Given the description of an element on the screen output the (x, y) to click on. 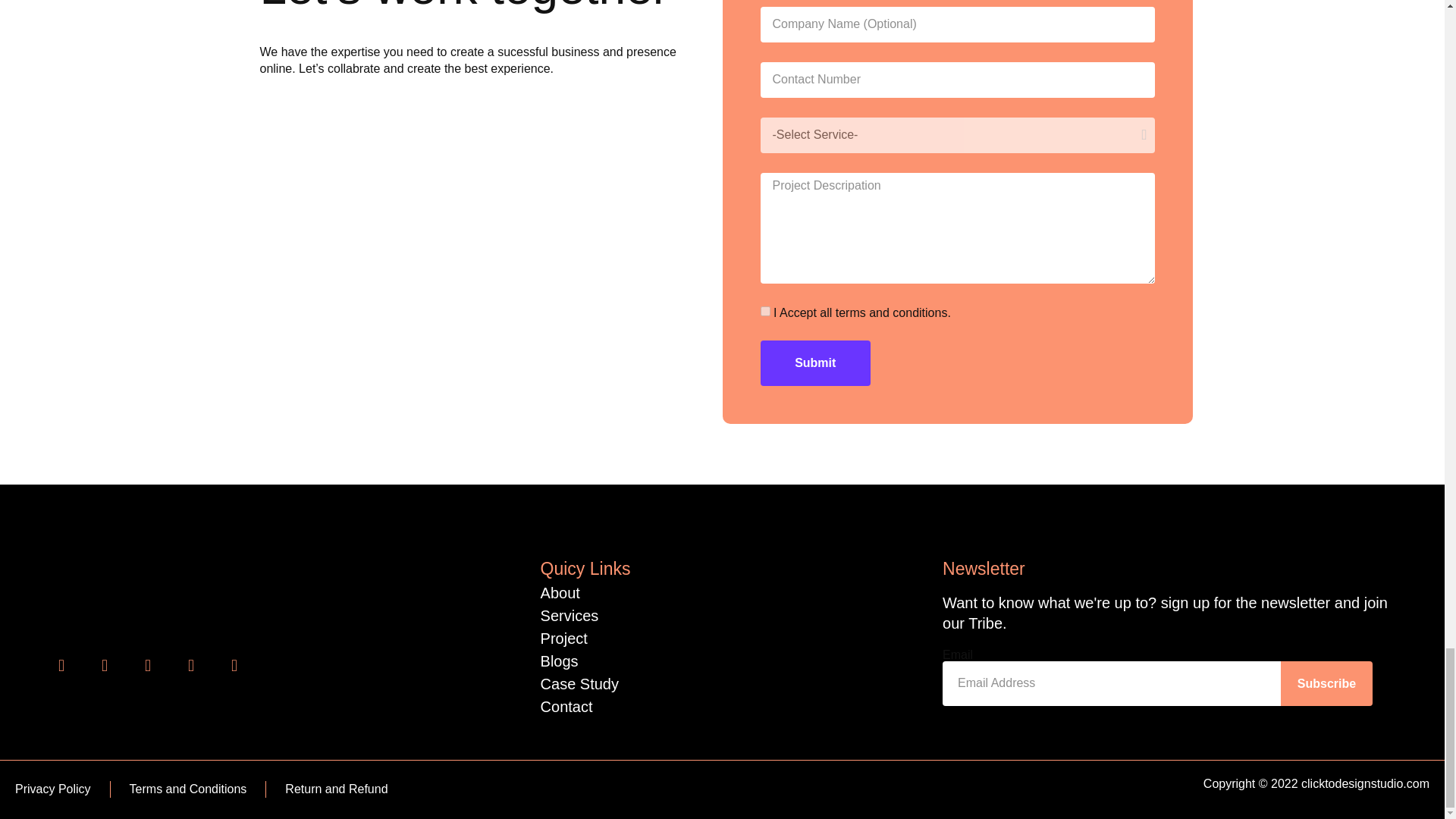
Subscribe (1326, 682)
Blogs (559, 660)
Contact (566, 706)
Case Study (579, 683)
Services (569, 615)
Project (564, 638)
Privacy Policy (52, 789)
About (559, 592)
Terms and Conditions (188, 789)
Submit (815, 362)
